Given the description of an element on the screen output the (x, y) to click on. 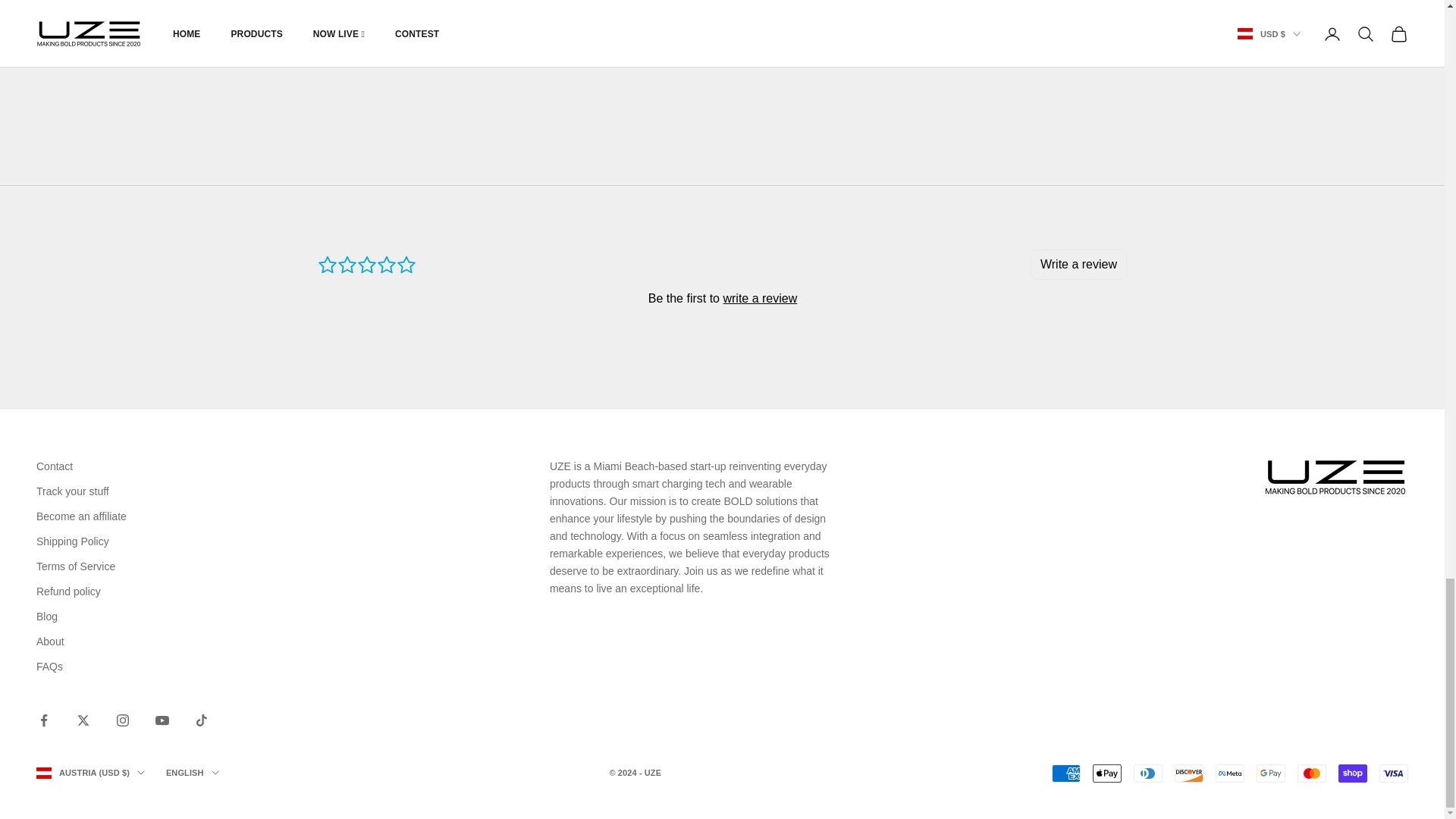
Product reviews widget (722, 297)
